Given the description of an element on the screen output the (x, y) to click on. 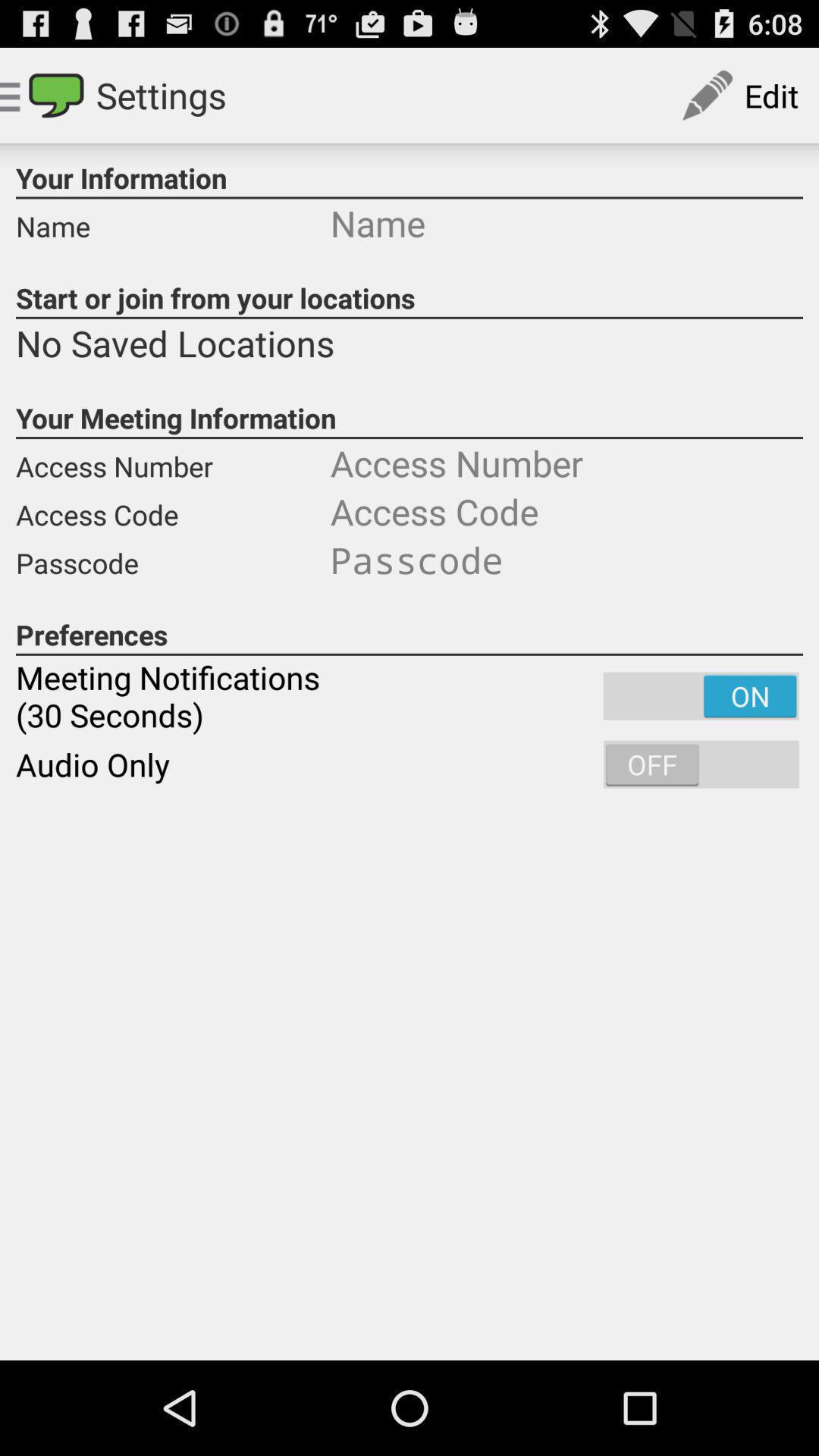
scroll to edit (739, 95)
